Given the description of an element on the screen output the (x, y) to click on. 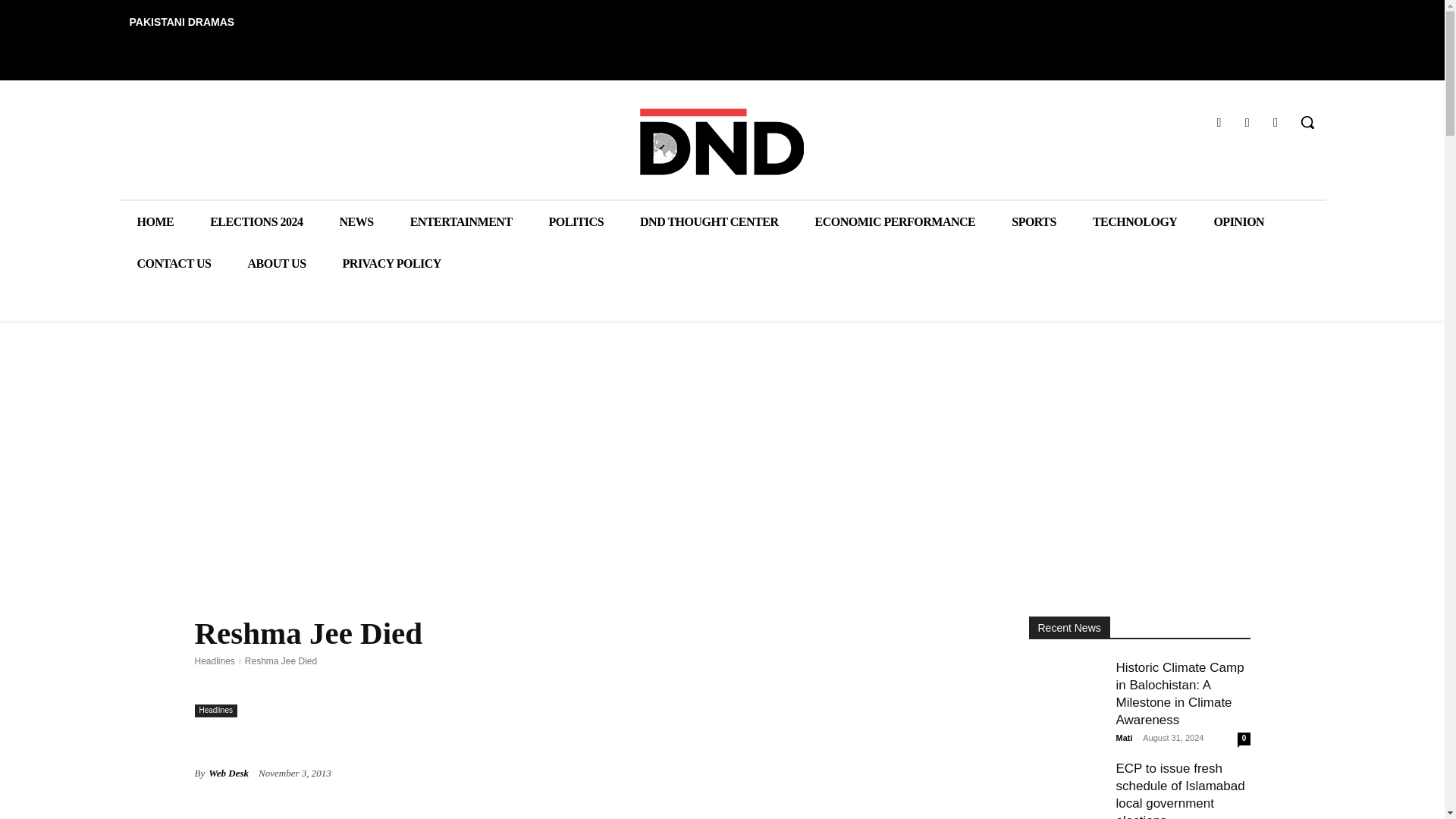
CONTACT US (172, 263)
SPORTS (1033, 221)
HOME (154, 221)
ELECTIONS 2024 (256, 221)
ECONOMIC PERFORMANCE (894, 221)
OPINION (1238, 221)
POLITICS (576, 221)
Twitter (1275, 122)
Instagram (1246, 122)
NEWS (356, 221)
